Given the description of an element on the screen output the (x, y) to click on. 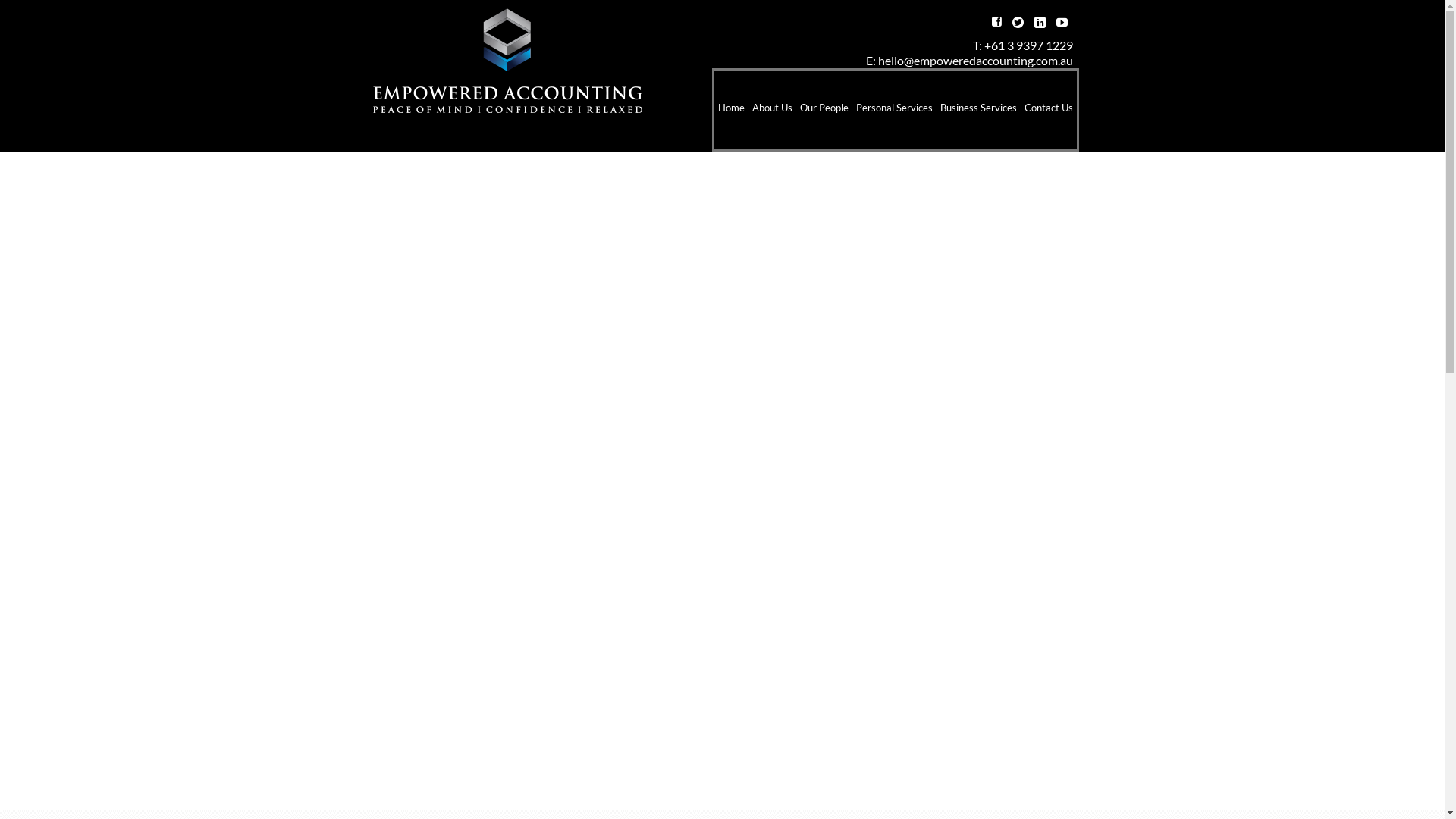
Personal Services Element type: text (893, 109)
Contact Us Element type: text (1047, 109)
+61 3 9397 1229 Element type: text (1028, 44)
Our People Element type: text (823, 109)
Home Element type: text (730, 109)
About Us Element type: text (772, 109)
Business Services Element type: text (978, 109)
hello@empoweredaccounting.com.au Element type: text (975, 60)
